Given the description of an element on the screen output the (x, y) to click on. 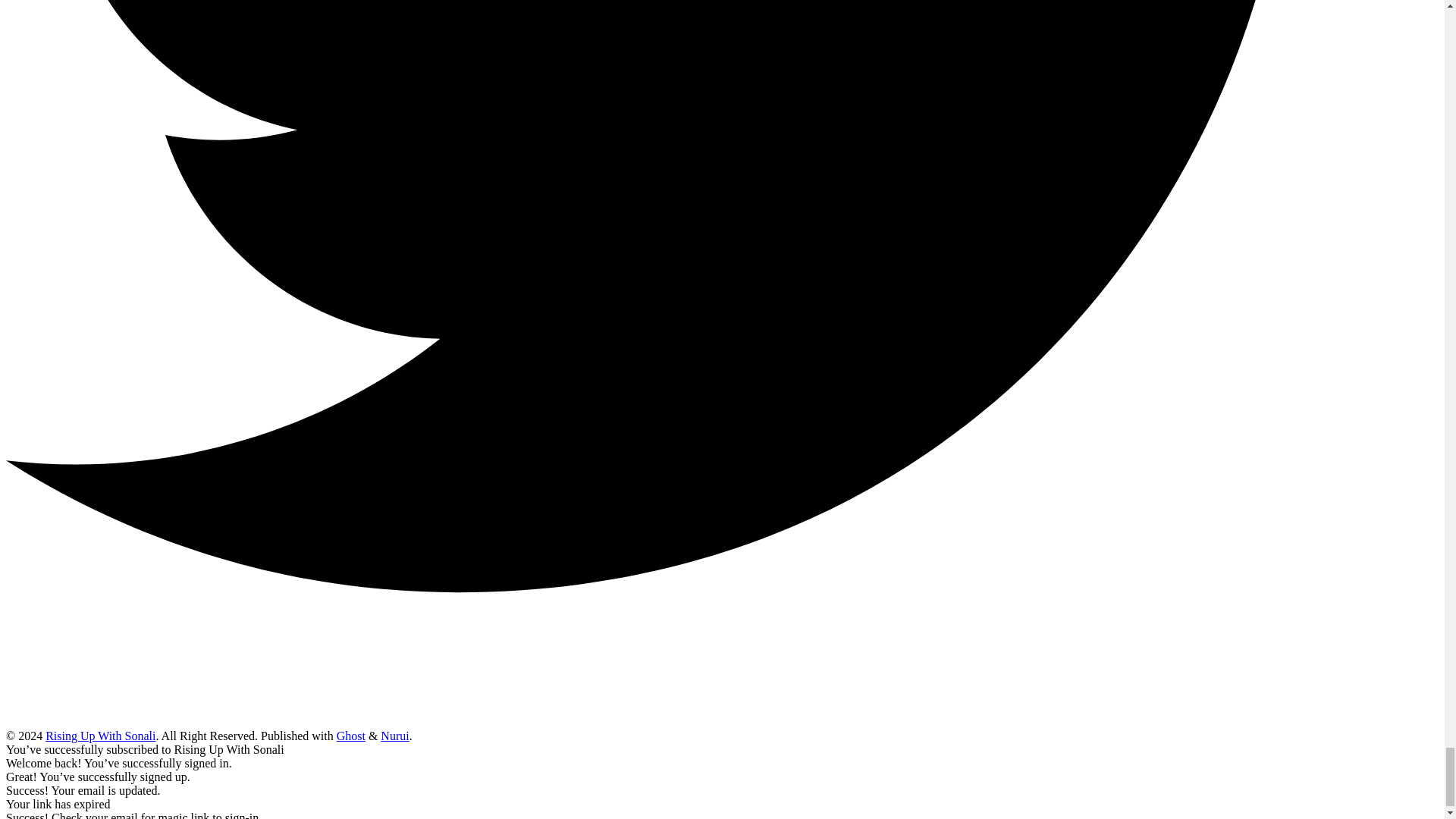
Ghost (350, 735)
Nurui (394, 735)
Rising Up With Sonali (100, 735)
